Given the description of an element on the screen output the (x, y) to click on. 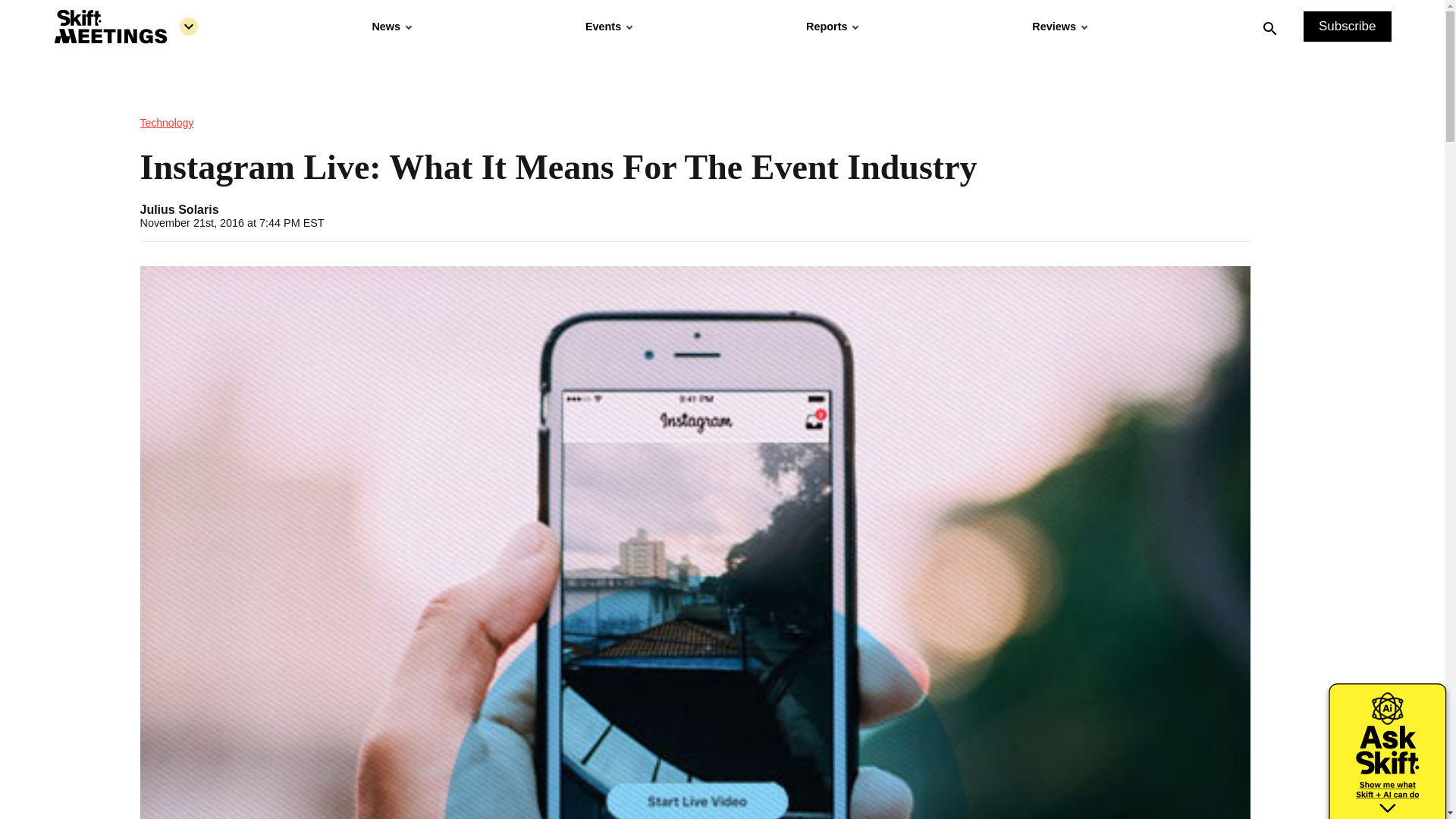
Reports (831, 26)
Subscribe (1347, 26)
Reviews (1059, 26)
